Given the description of an element on the screen output the (x, y) to click on. 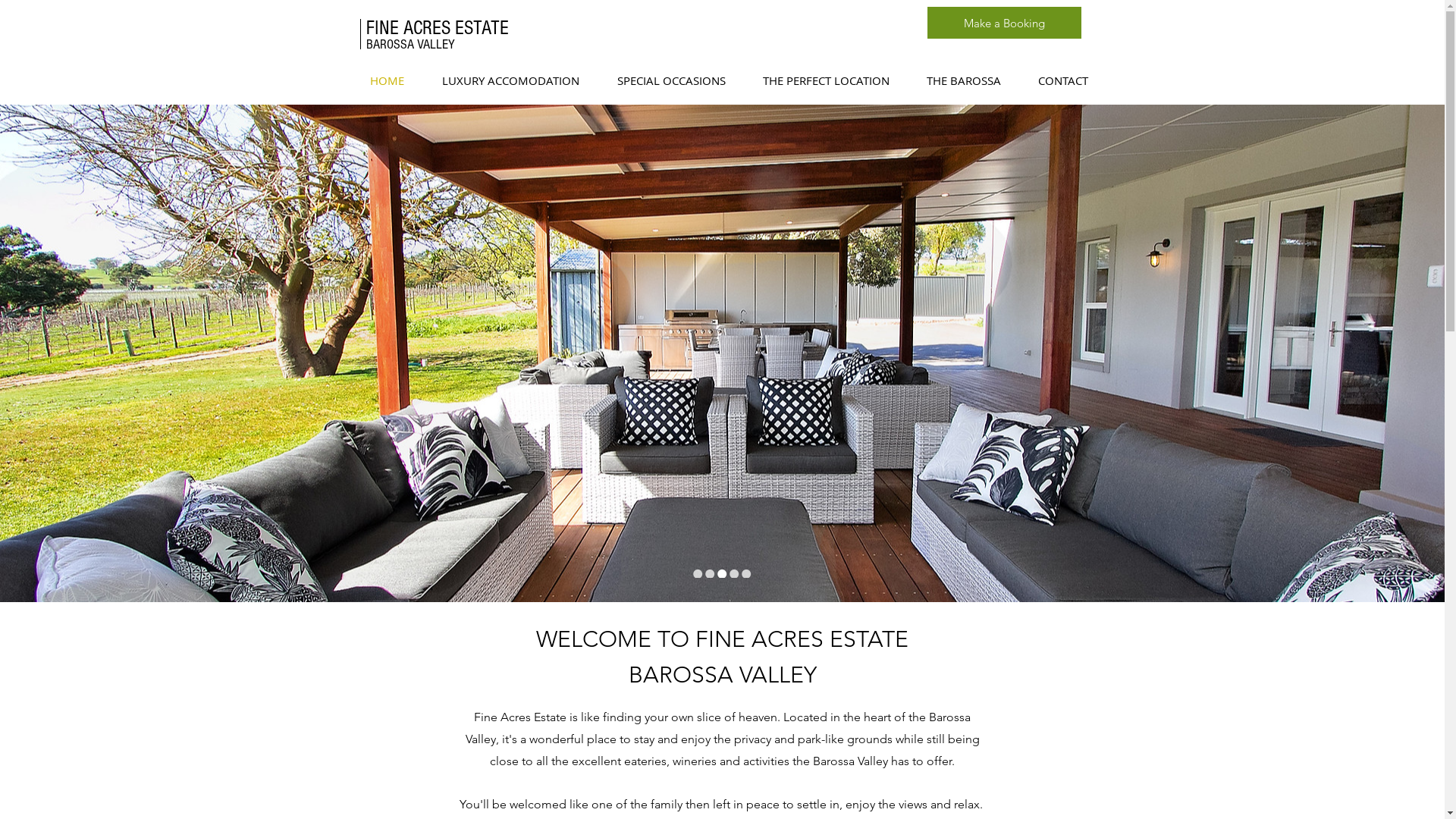
HOME Element type: text (386, 80)
THE PERFECT LOCATION Element type: text (826, 80)
BAROSSA VALLEY Element type: text (409, 44)
THE BAROSSA Element type: text (963, 80)
SPECIAL OCCASIONS Element type: text (670, 80)
BAROSSA VALLEY Element type: text (721, 676)
CONTACT Element type: text (1062, 80)
Make a Booking Element type: text (1003, 22)
WELCOME TO FINE ACRES ESTATE Element type: text (722, 641)
FINE ACRES ESTATE Element type: text (436, 27)
